Given the description of an element on the screen output the (x, y) to click on. 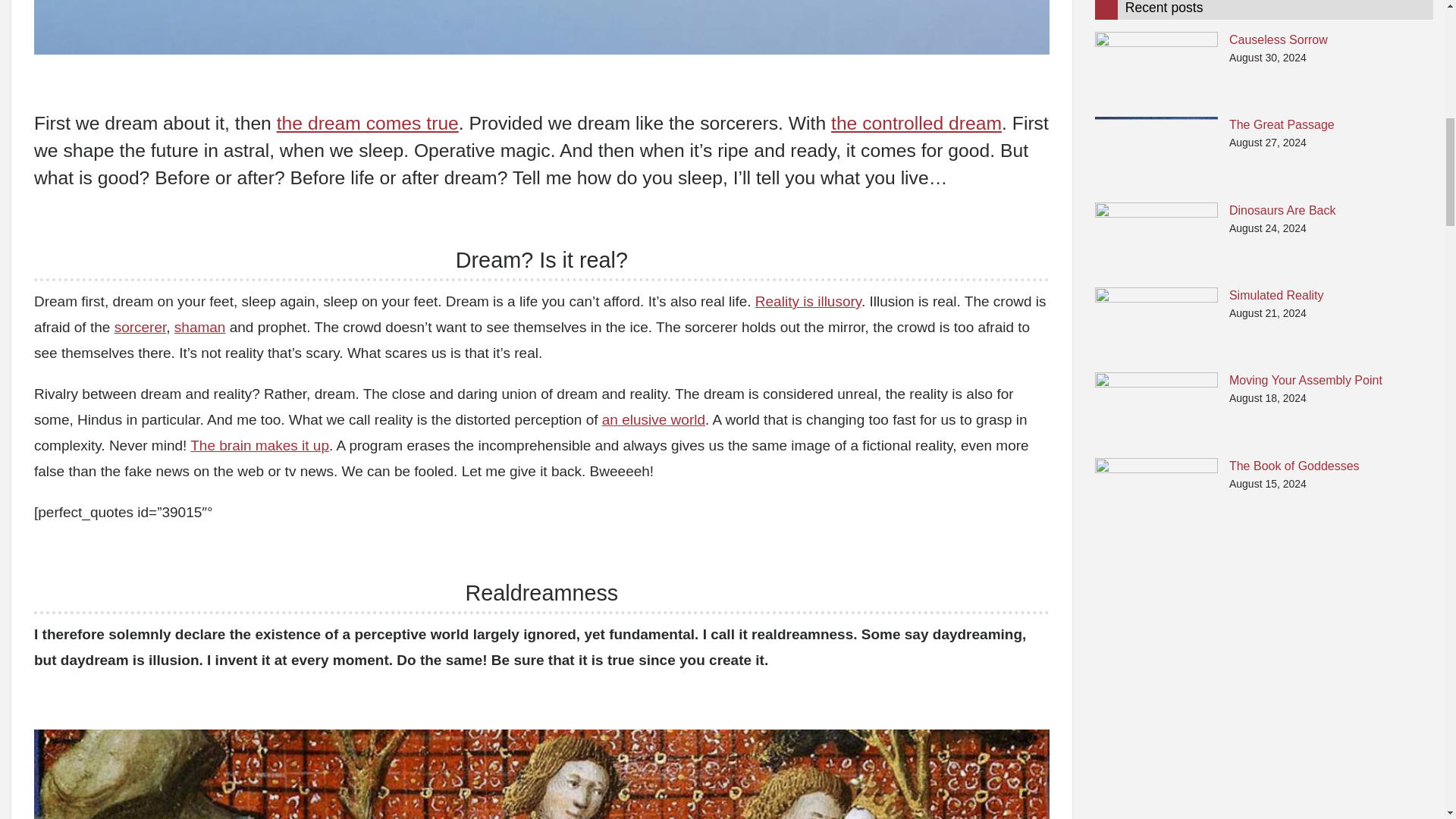
Causeless Sorrow (1155, 67)
Dinosaurs Are Back (1155, 237)
Simulated Reality (1155, 323)
The Great Passage (1155, 152)
The Book of Goddesses (1155, 492)
Moving Your Assembly Point (1155, 408)
